Given the description of an element on the screen output the (x, y) to click on. 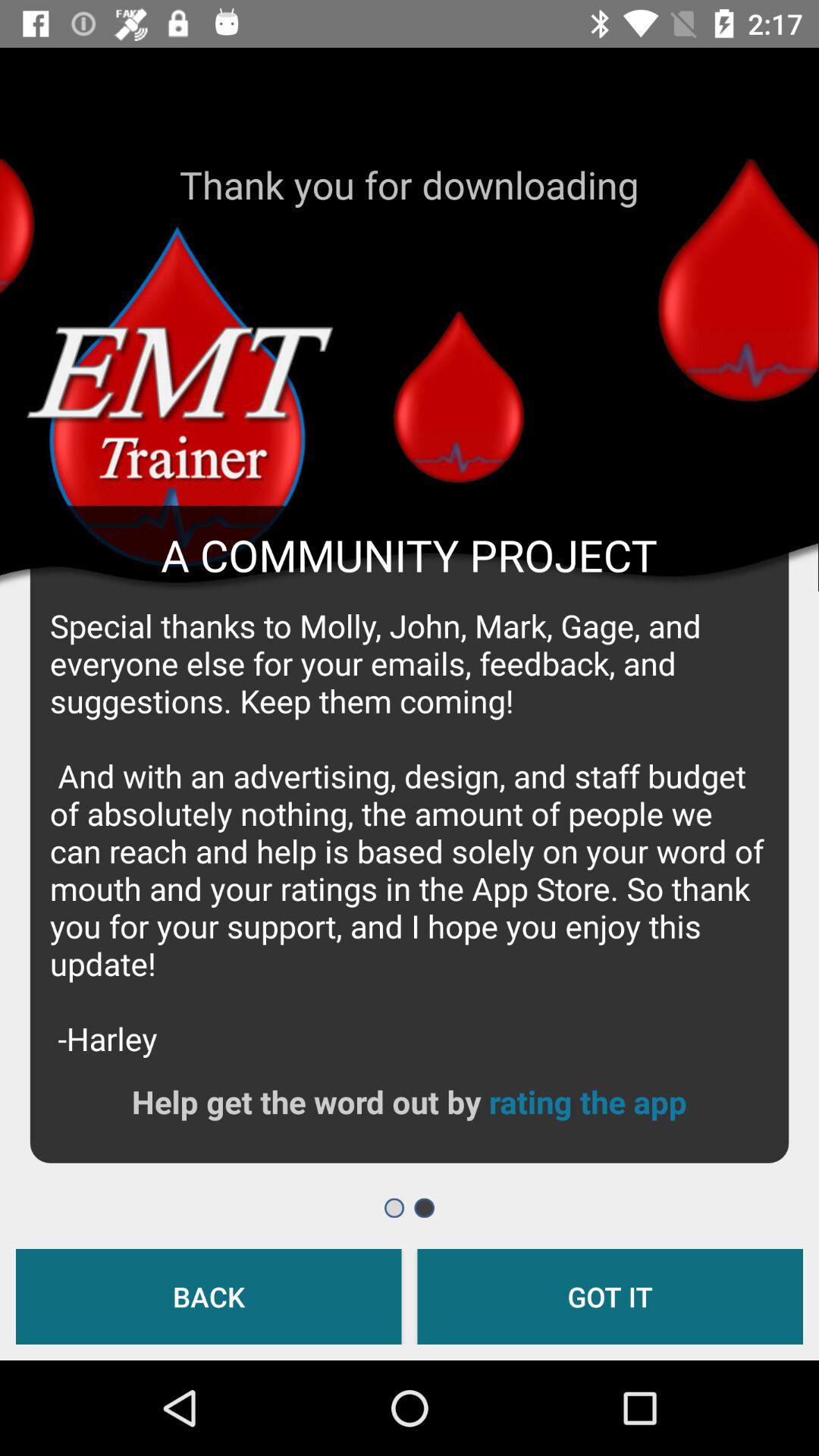
turn on back (208, 1296)
